Given the description of an element on the screen output the (x, y) to click on. 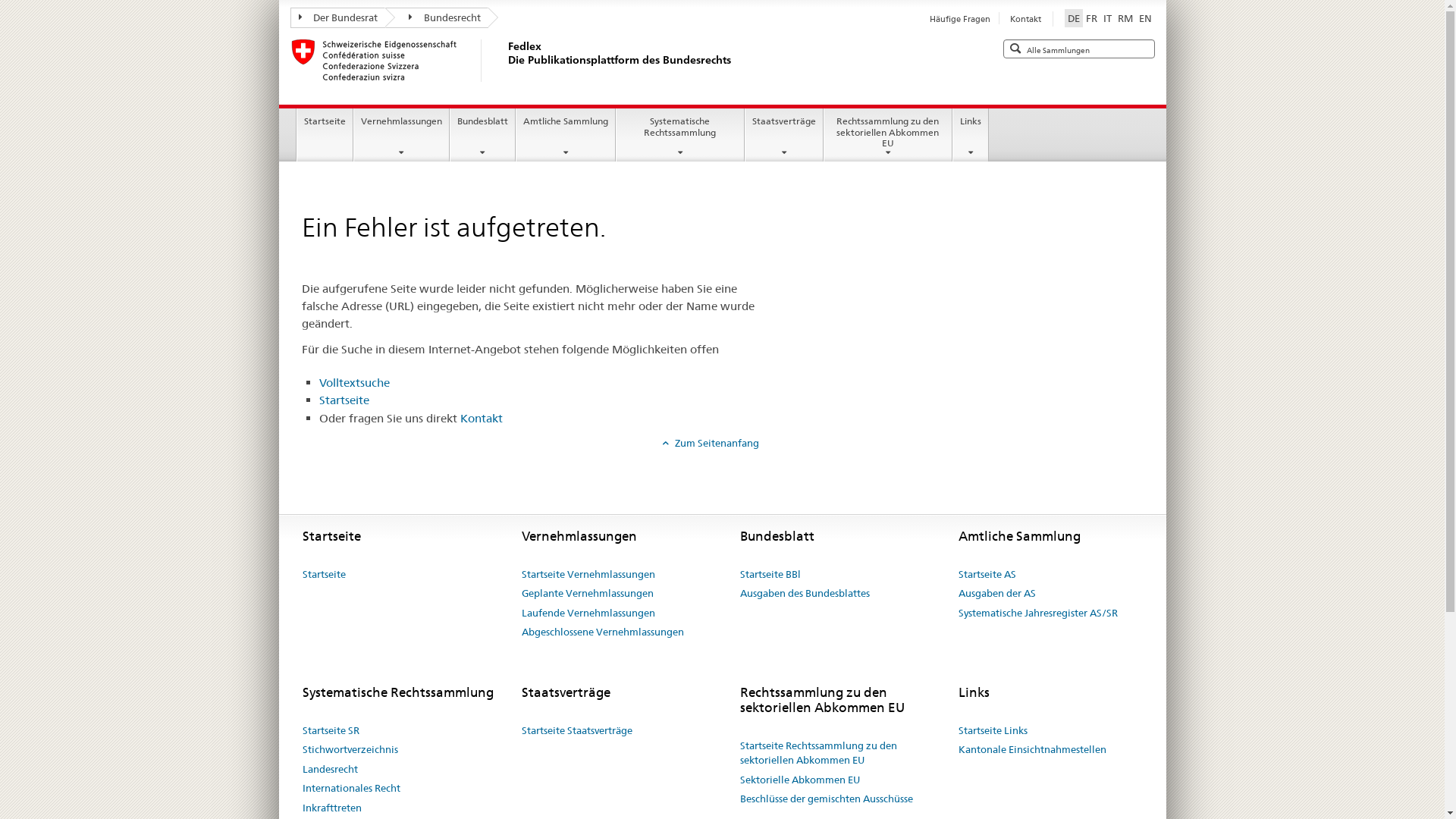
Startseite Element type: text (344, 399)
Kontakt Element type: text (1025, 18)
Startseite Element type: text (323, 574)
Ausgaben des Bundesblattes Element type: text (804, 593)
EN Element type: text (1144, 18)
Startseite Vernehmlassungen Element type: text (588, 574)
Abgeschlossene Vernehmlassungen Element type: text (602, 632)
DE Element type: text (1073, 18)
Laufende Vernehmlassungen Element type: text (588, 613)
FR Element type: text (1091, 18)
RM Element type: text (1124, 18)
Inkrafttreten Element type: text (331, 808)
Startseite AS Element type: text (987, 574)
Ausgaben der AS Element type: text (996, 593)
Internationales Recht Element type: text (351, 788)
Kantonale Einsichtnahmestellen Element type: text (1032, 749)
Startseite Element type: text (324, 134)
Zum Seitenanfang Element type: text (710, 442)
Sektorielle Abkommen EU Element type: text (799, 780)
Systematische Jahresregister AS/SR Element type: text (1037, 613)
Geplante Vernehmlassungen Element type: text (587, 593)
Startseite BBl Element type: text (770, 574)
Startseite Links Element type: text (992, 730)
Startseite Rechtssammlung zu den sektoriellen Abkommen EU Element type: text (837, 753)
Kontakt Element type: text (481, 418)
Der Bundesrat Element type: text (337, 17)
Startseite SR Element type: text (330, 730)
Bundesrecht Element type: text (436, 17)
Volltextsuche Element type: text (354, 382)
Stichwortverzeichnis Element type: text (350, 749)
Landesrecht Element type: text (329, 769)
IT Element type: text (1106, 18)
